Given the description of an element on the screen output the (x, y) to click on. 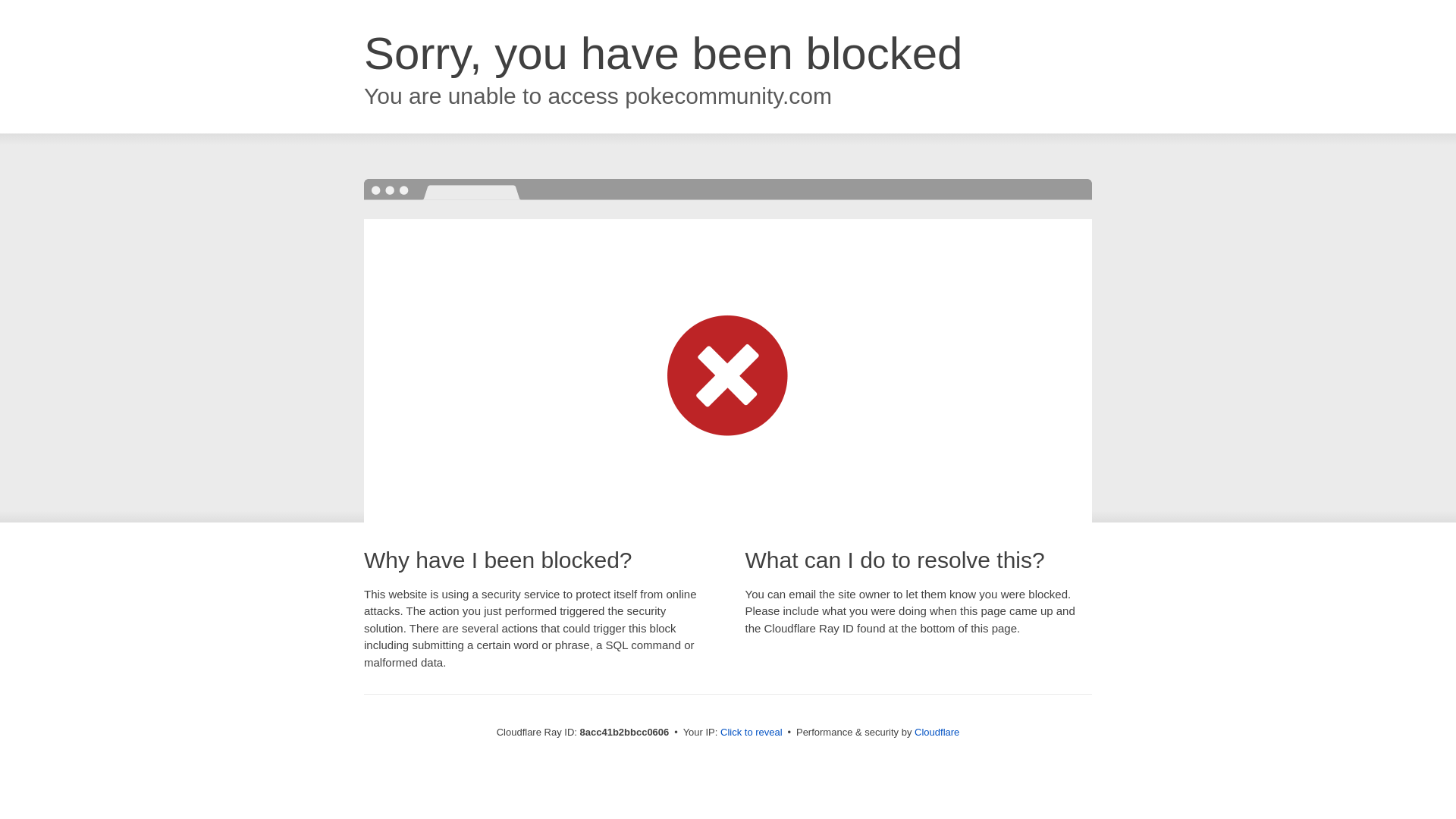
Cloudflare (936, 731)
Click to reveal (751, 732)
